Given the description of an element on the screen output the (x, y) to click on. 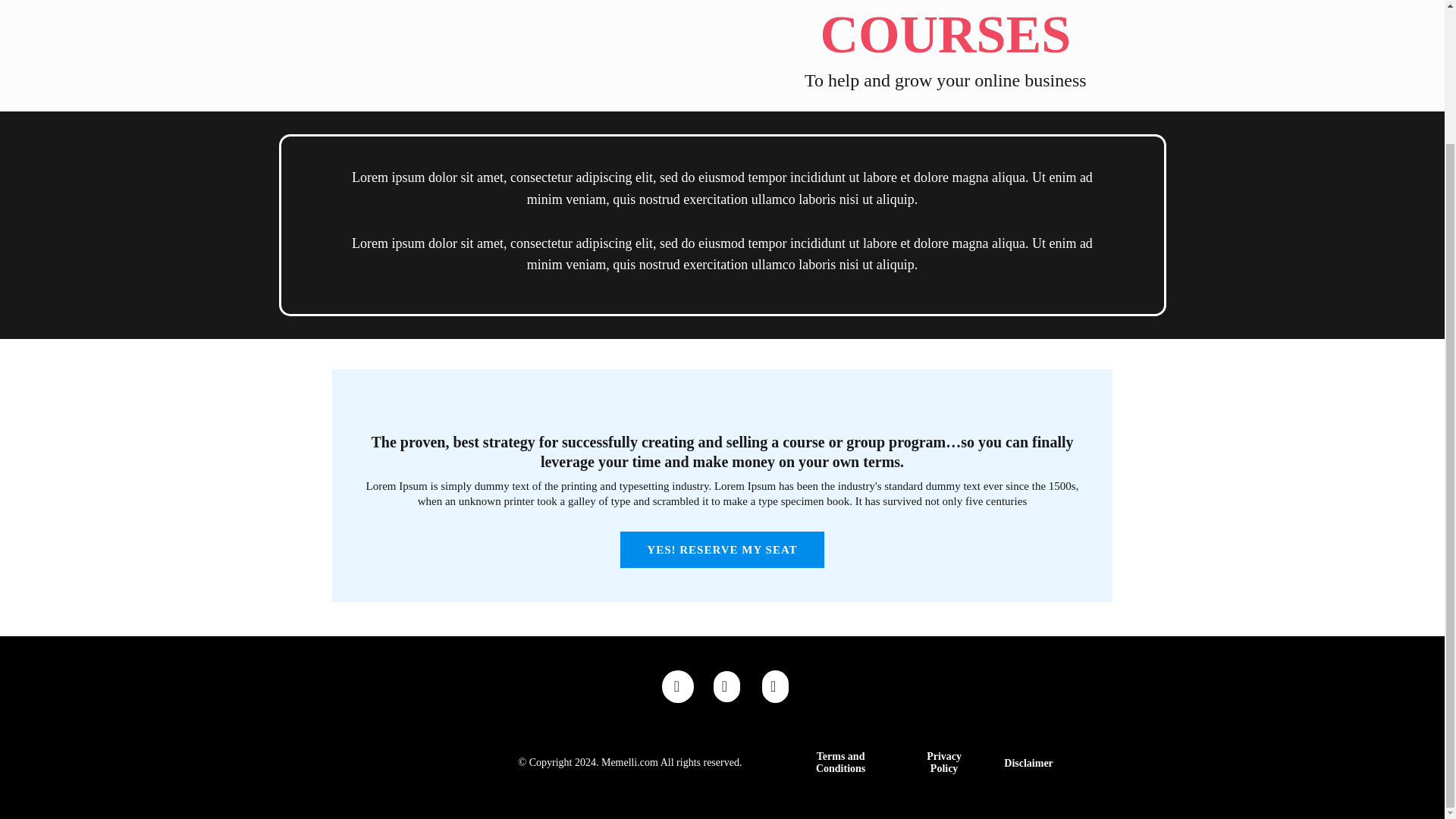
Terms and Conditions (839, 762)
Privacy Policy (944, 762)
Disclaimer (1028, 762)
YES! RESERVE MY SEAT (722, 549)
